Given the description of an element on the screen output the (x, y) to click on. 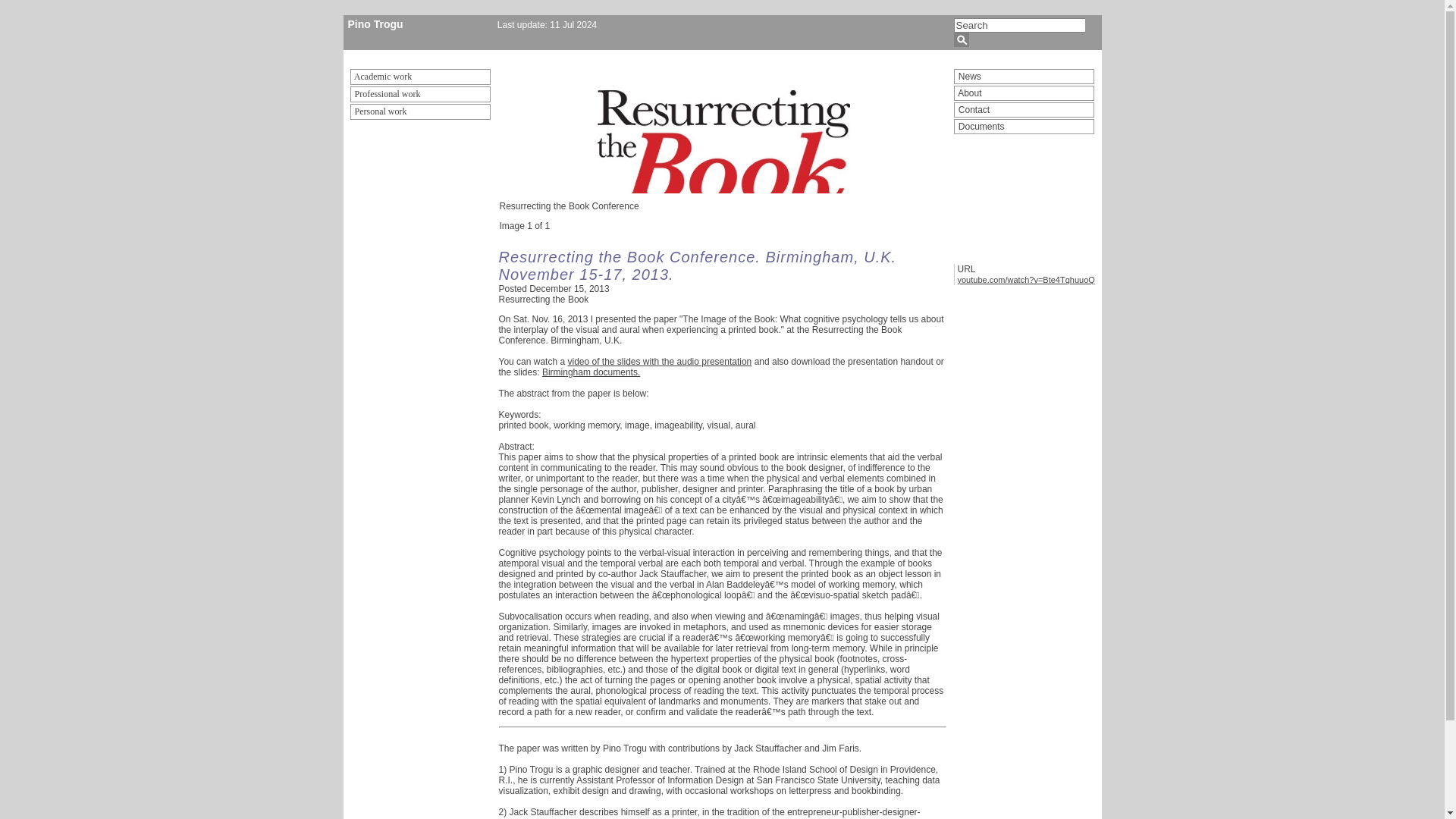
 Documents (1023, 126)
Search (1018, 25)
 About (1023, 92)
Home page (375, 24)
 News (1023, 76)
Search (1018, 25)
Pino Trogu (375, 24)
video of the slides with the audio presentation (659, 361)
 Contact (1023, 109)
Birmingham documents. (590, 371)
